Given the description of an element on the screen output the (x, y) to click on. 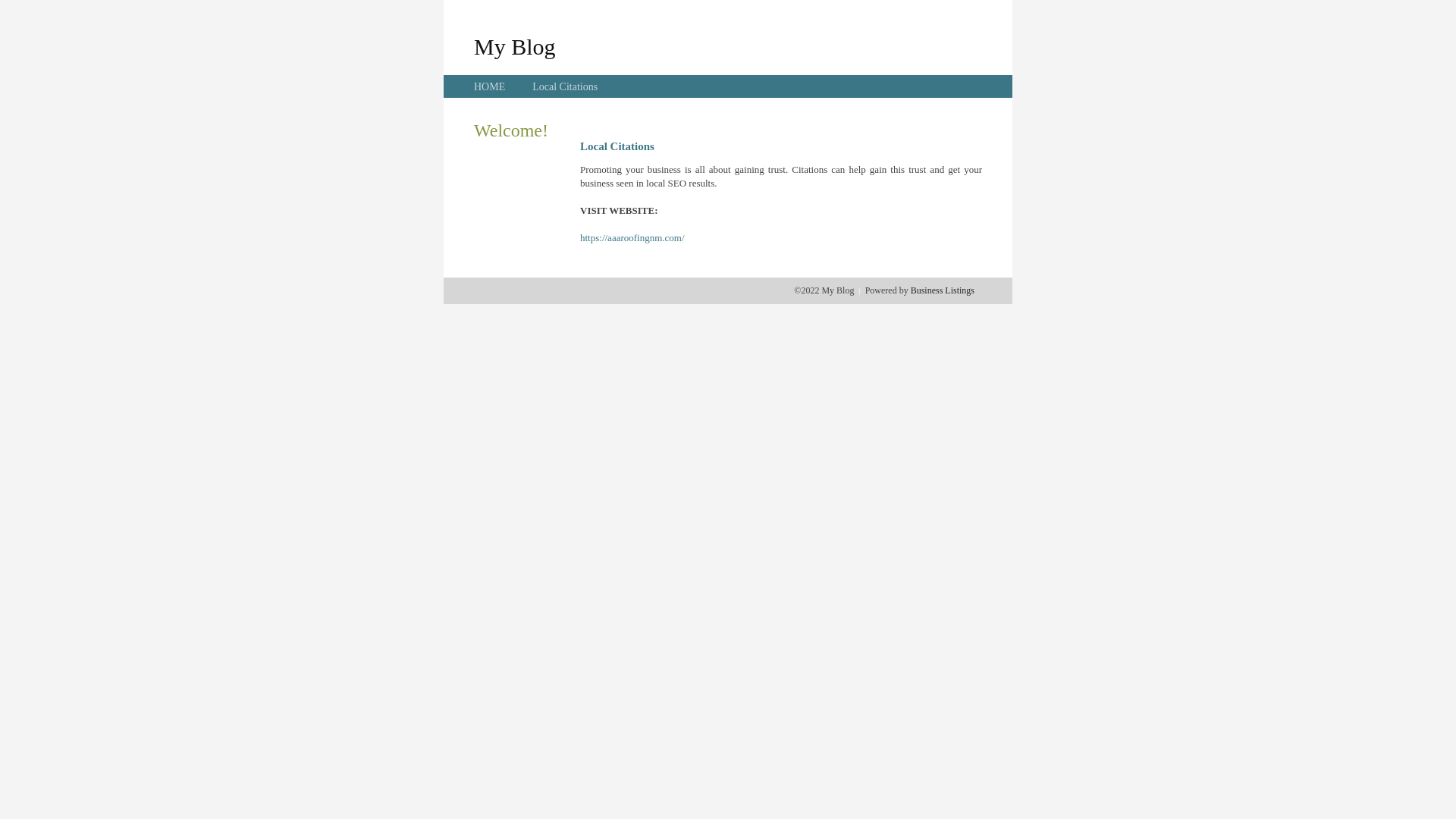
Business Listings Element type: text (942, 290)
https://aaaroofingnm.com/ Element type: text (632, 237)
My Blog Element type: text (514, 46)
HOME Element type: text (489, 86)
Local Citations Element type: text (564, 86)
